Given the description of an element on the screen output the (x, y) to click on. 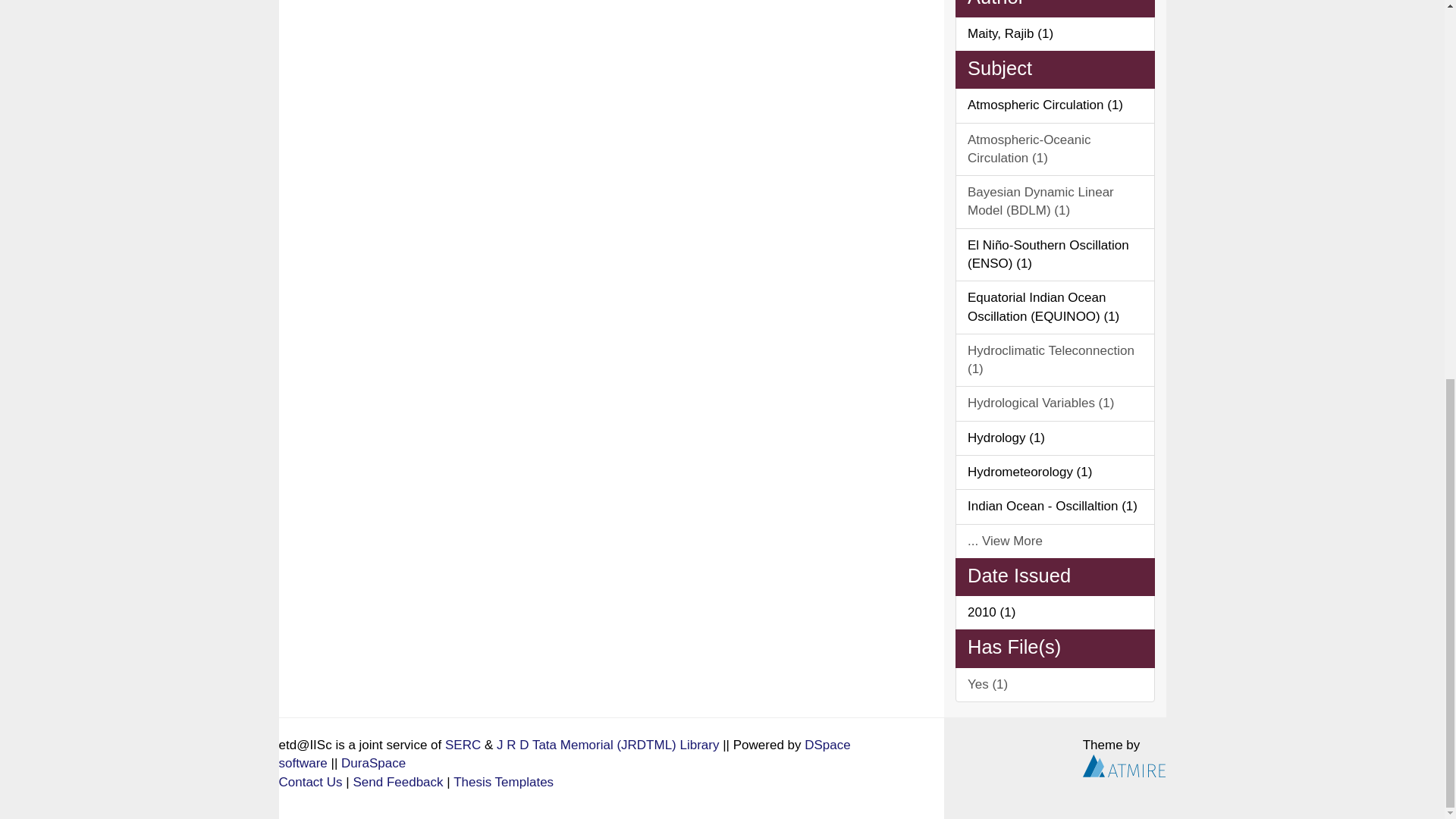
Atmire NV (1124, 765)
